Given the description of an element on the screen output the (x, y) to click on. 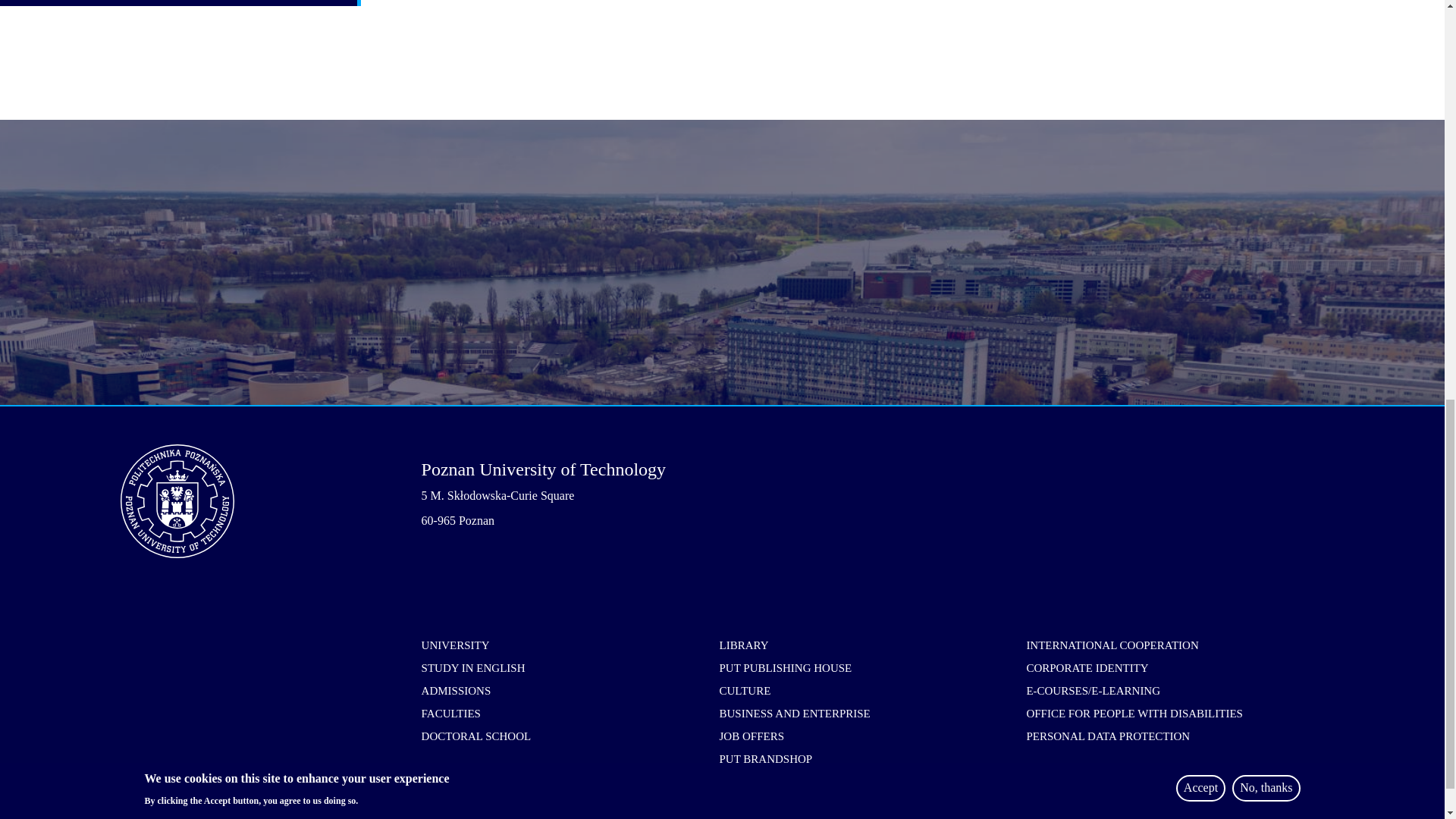
Home (271, 500)
